Given the description of an element on the screen output the (x, y) to click on. 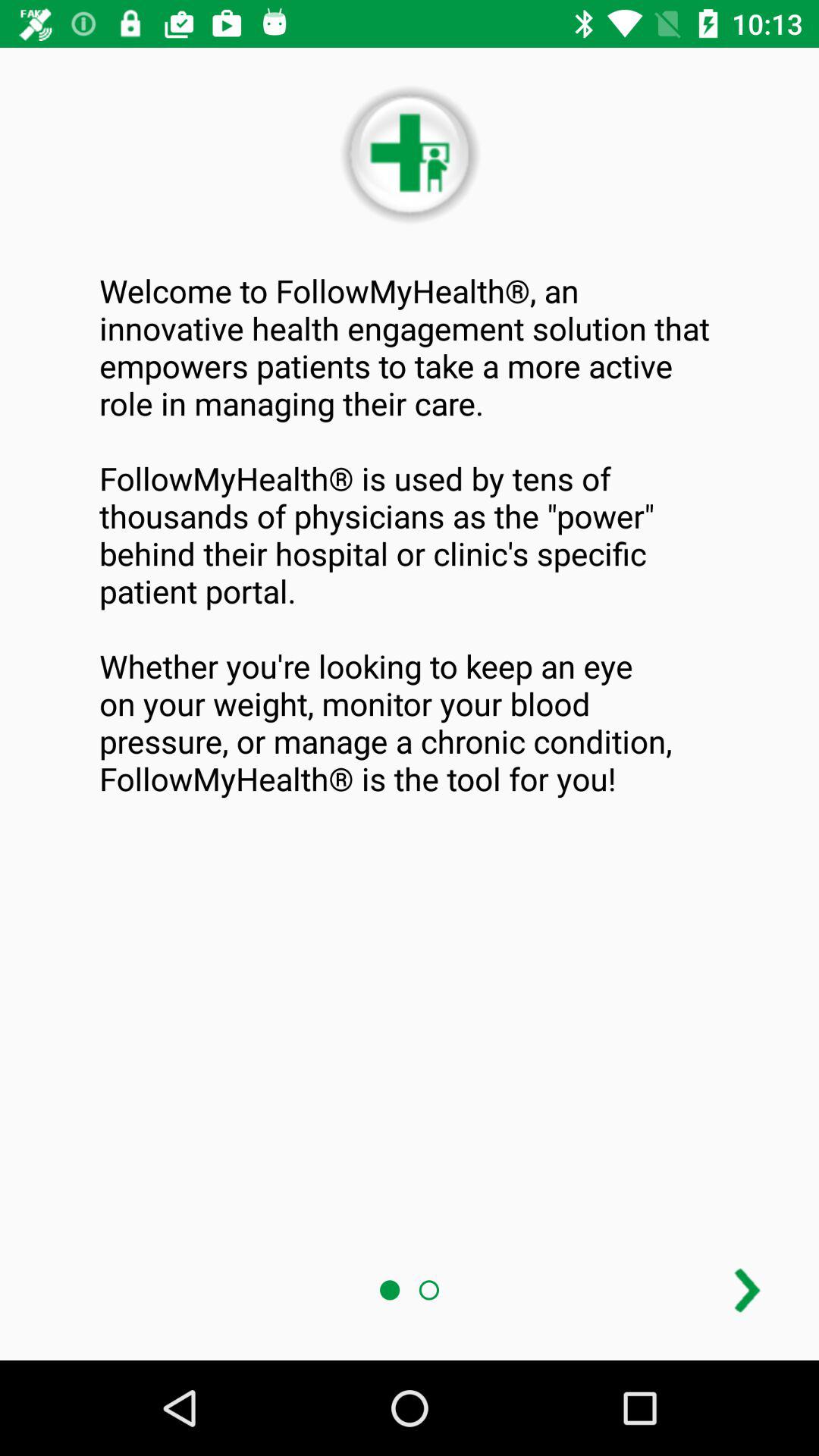
jump until welcome to followmyhealth (409, 534)
